Given the description of an element on the screen output the (x, y) to click on. 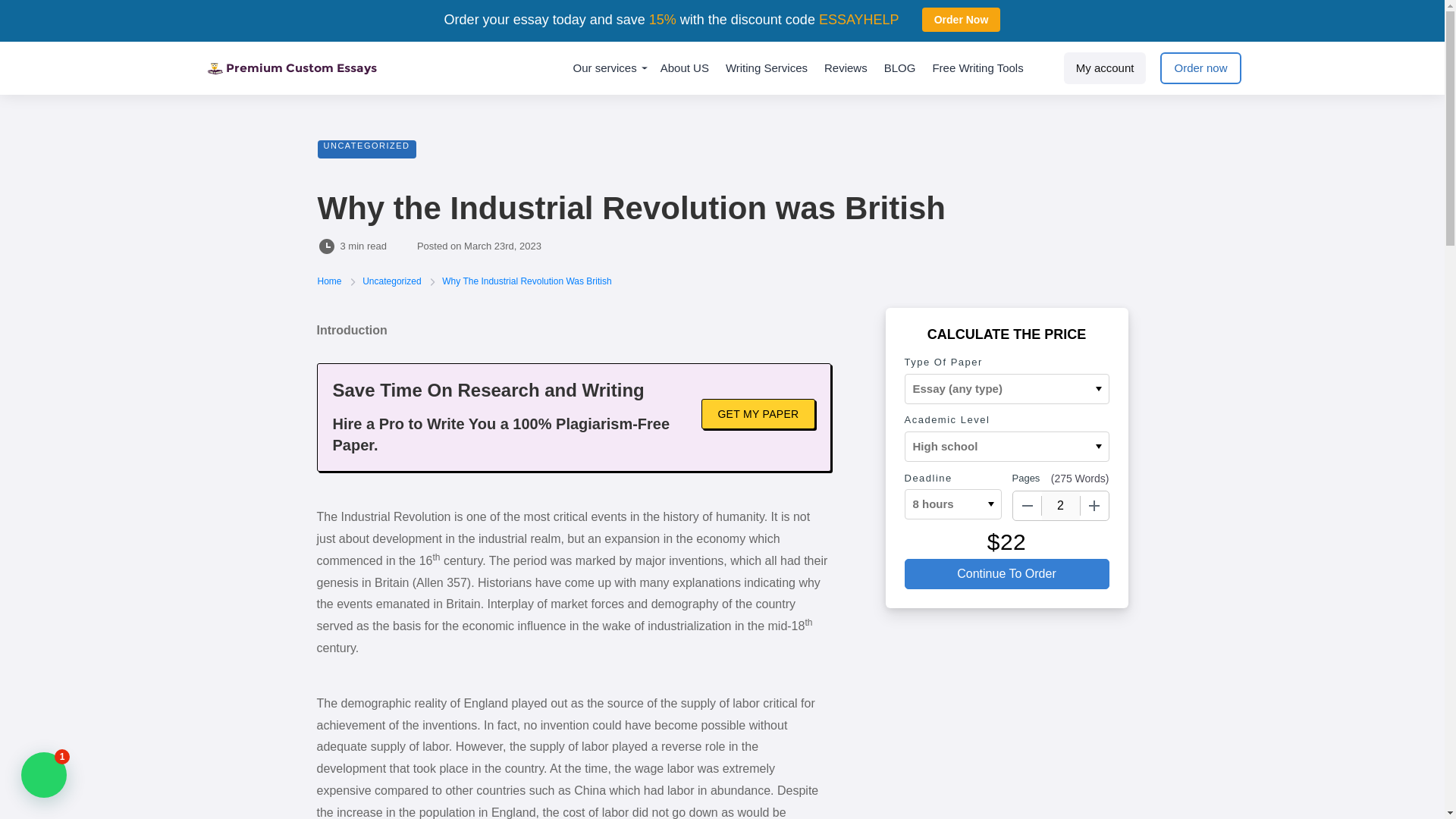
Free Writing Tools (977, 67)
Order now (1200, 68)
Reviews (845, 67)
Writing Services (766, 67)
Decrease (1027, 505)
Increase (1094, 505)
GET MY PAPER (757, 413)
Continue to order (1006, 573)
Uncategorized (392, 281)
UNCATEGORIZED (365, 149)
My account (1105, 68)
About US (685, 67)
2 (1061, 505)
Home (330, 281)
Why The Industrial Revolution Was British (526, 281)
